Given the description of an element on the screen output the (x, y) to click on. 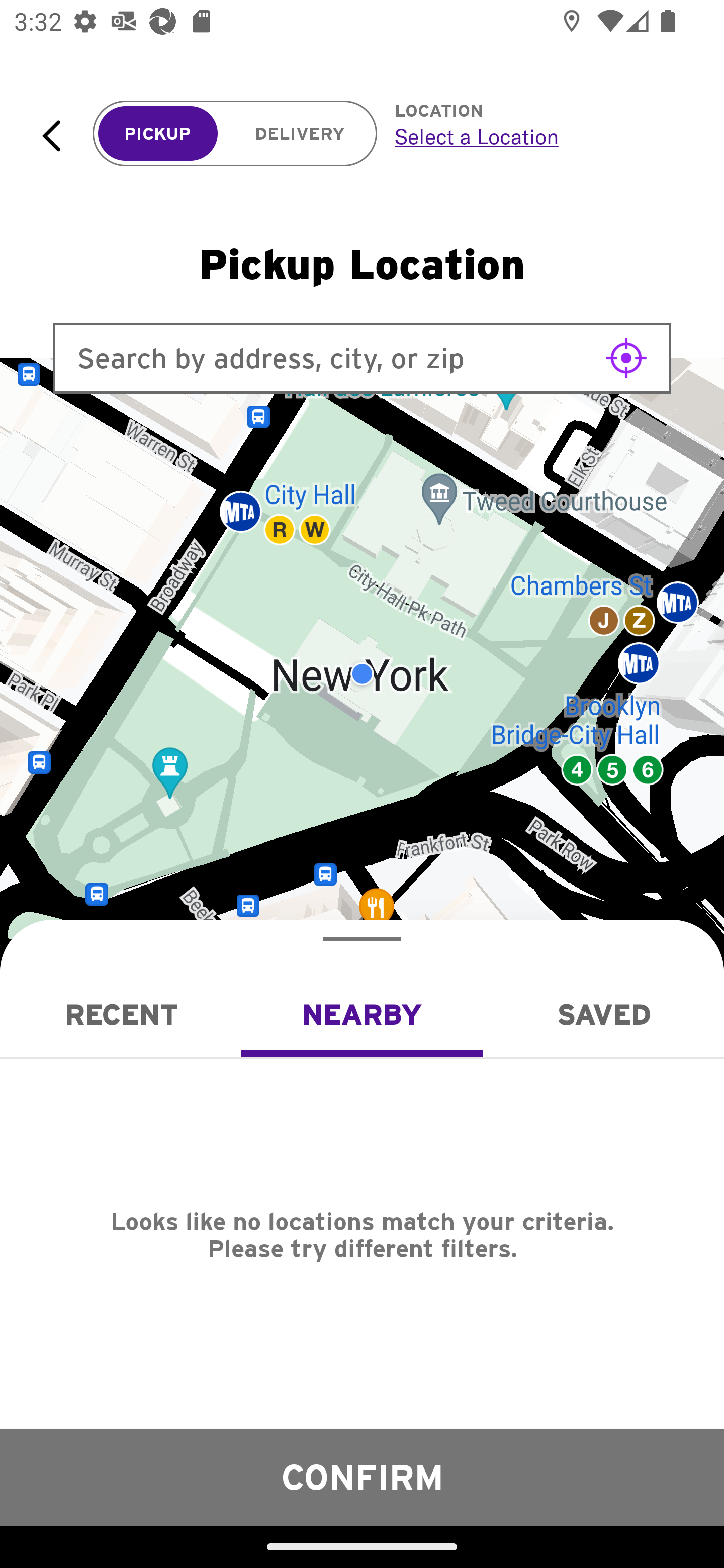
PICKUP (157, 133)
DELIVERY (299, 133)
Select a Location (536, 136)
Search by address, city, or zip (361, 358)
Google Map (362, 674)
Recent RECENT (120, 1014)
Saved SAVED (603, 1014)
CONFIRM (362, 1476)
